Given the description of an element on the screen output the (x, y) to click on. 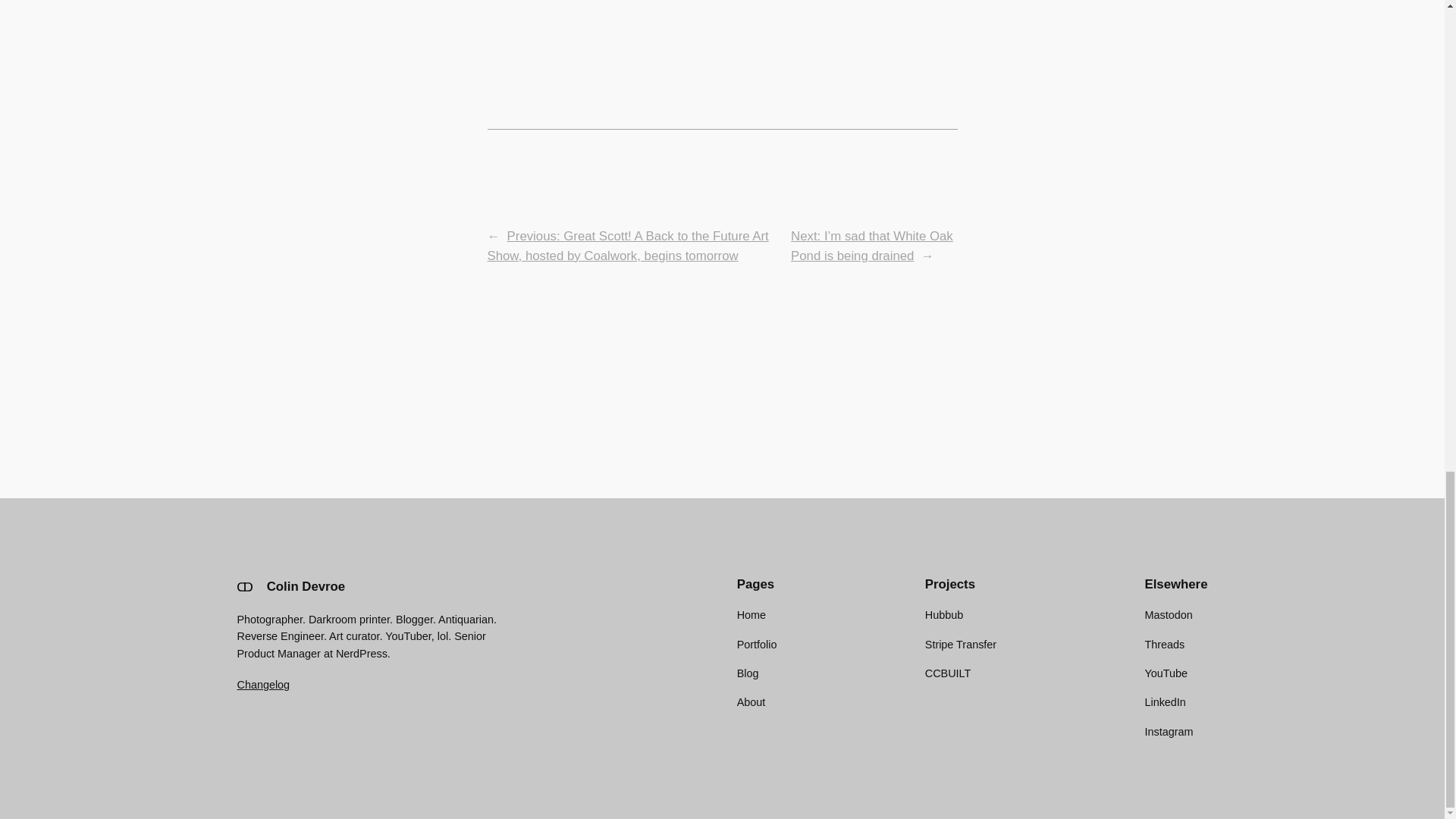
Home (750, 614)
Colin Devroe (306, 586)
Portfolio (756, 644)
Changelog (262, 684)
